Given the description of an element on the screen output the (x, y) to click on. 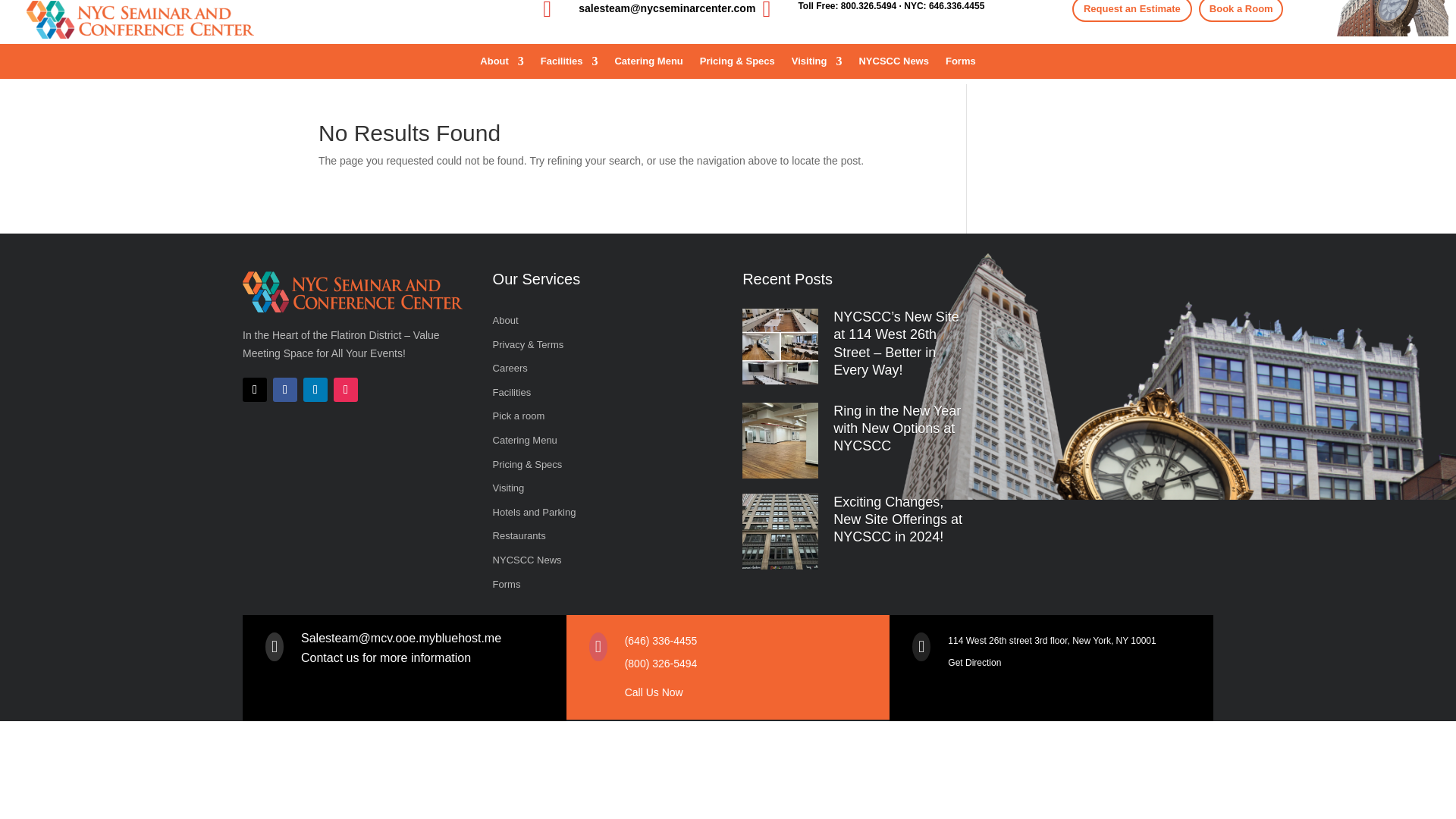
NYCSCC News (595, 563)
Follow on Facebook (285, 389)
Pick a room (595, 419)
Book a Room (1240, 11)
Forms (595, 587)
NYCSCC News (893, 64)
logohorizontal (353, 291)
Restaurants (595, 538)
Ring in the New Year with New Options at NYCSCC (896, 428)
About (595, 323)
Facilities (569, 64)
Careers (595, 371)
Facilities (595, 395)
About (502, 64)
Visiting (595, 491)
